Given the description of an element on the screen output the (x, y) to click on. 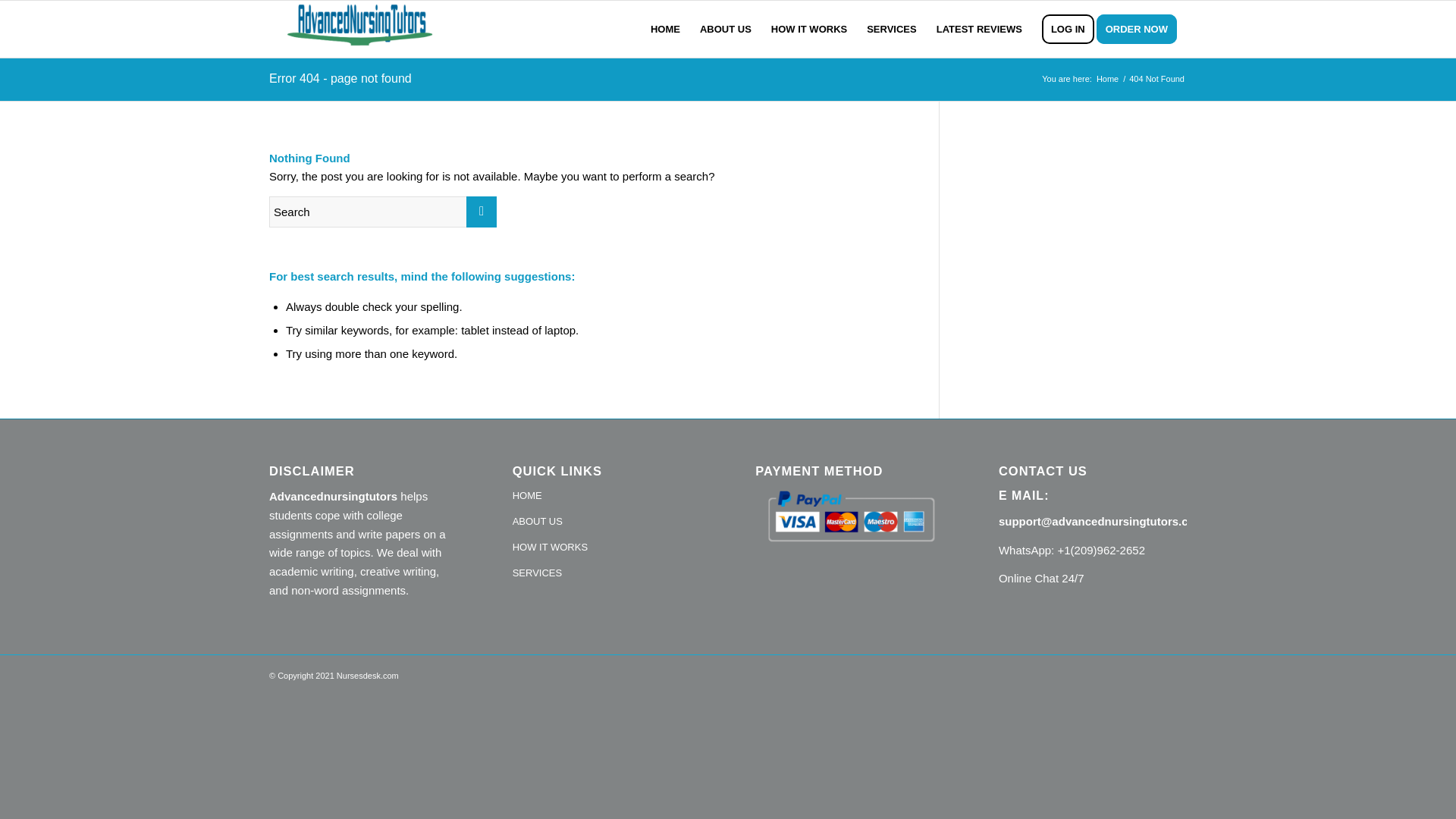
LOG IN (1067, 28)
Home (1107, 79)
advancednursingtutors.com (1107, 79)
SERVICES (891, 28)
HOME (606, 496)
SERVICES (606, 574)
LATEST REVIEWS (979, 28)
ABOUT US (606, 522)
HOW IT WORKS (809, 28)
ORDER NOW (1141, 28)
HOW IT WORKS (606, 548)
ABOUT US (725, 28)
